Given the description of an element on the screen output the (x, y) to click on. 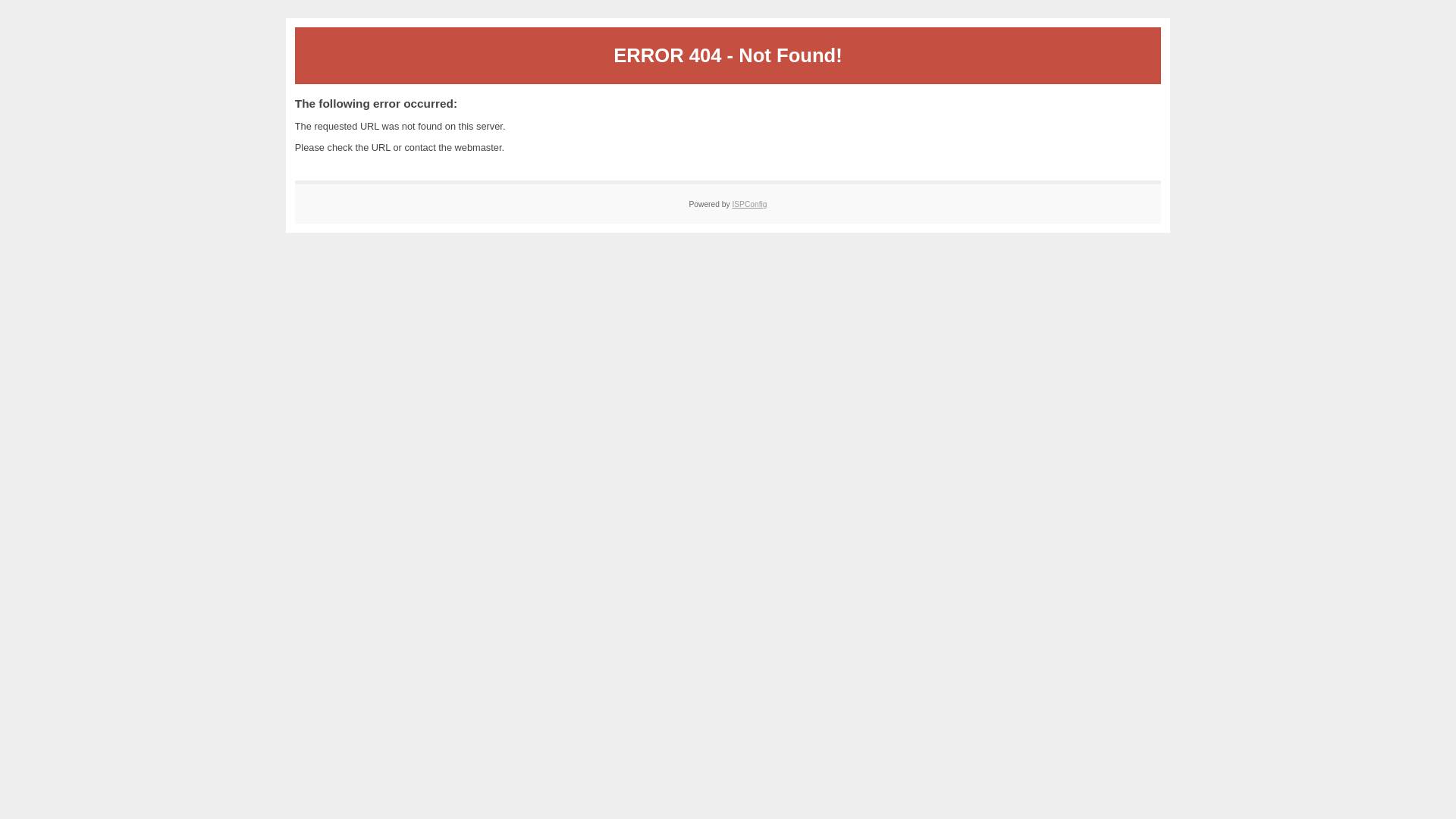
ISPConfig Element type: text (748, 204)
